Given the description of an element on the screen output the (x, y) to click on. 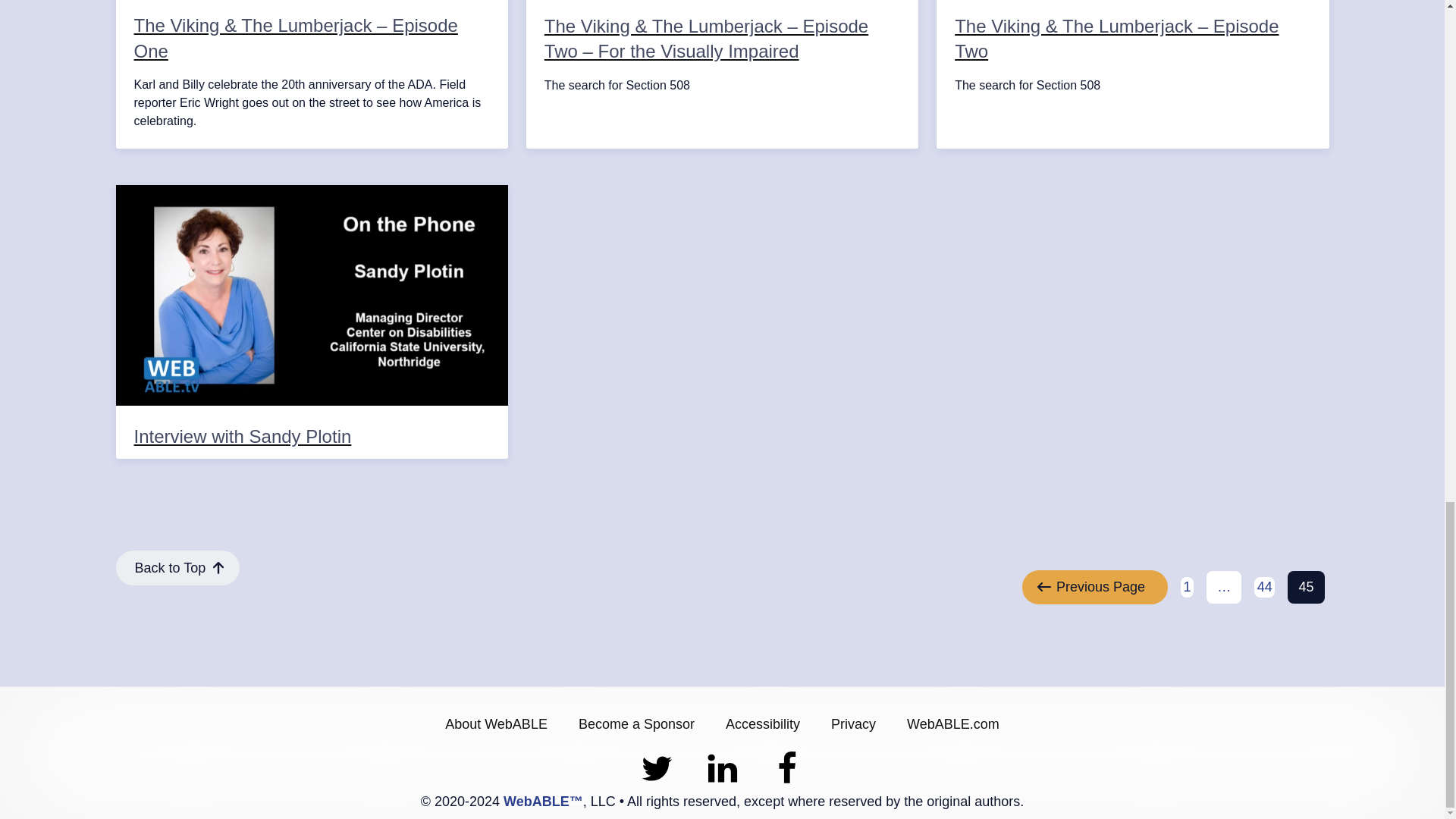
Interview with Sandy Plotin (311, 317)
Previous Page (1094, 587)
WebABLE.com (953, 723)
About WebABLE (495, 723)
Become a Sponsor (635, 723)
Privacy (852, 723)
Back to Top (177, 567)
Accessibility (762, 723)
Twitter (1264, 587)
